Given the description of an element on the screen output the (x, y) to click on. 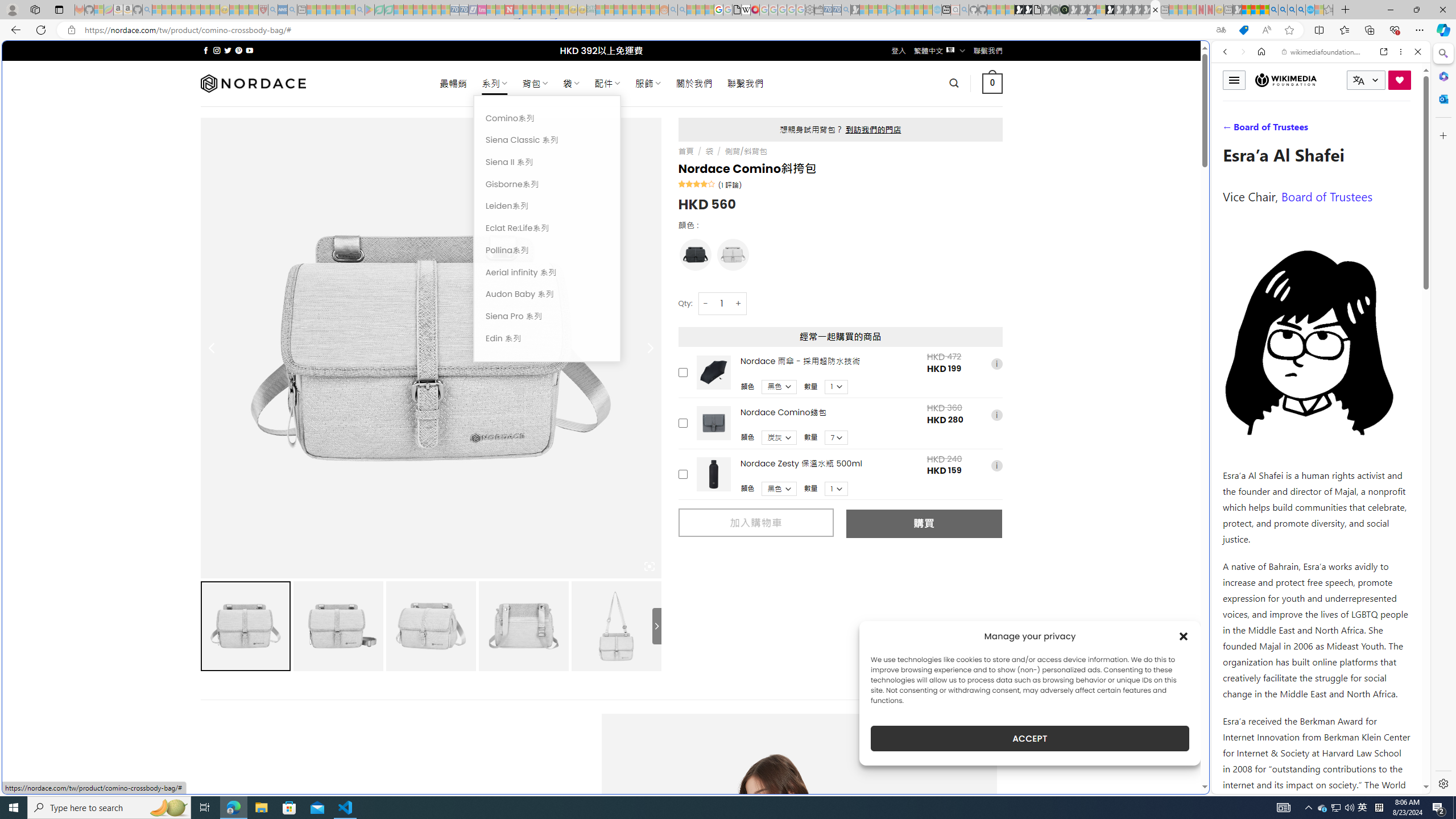
google - Search - Sleeping (359, 9)
Expert Portfolios - Sleeping (627, 9)
Cheap Car Rentals - Save70.com - Sleeping (836, 9)
New Report Confirms 2023 Was Record Hot | Watch - Sleeping (195, 9)
